Given the description of an element on the screen output the (x, y) to click on. 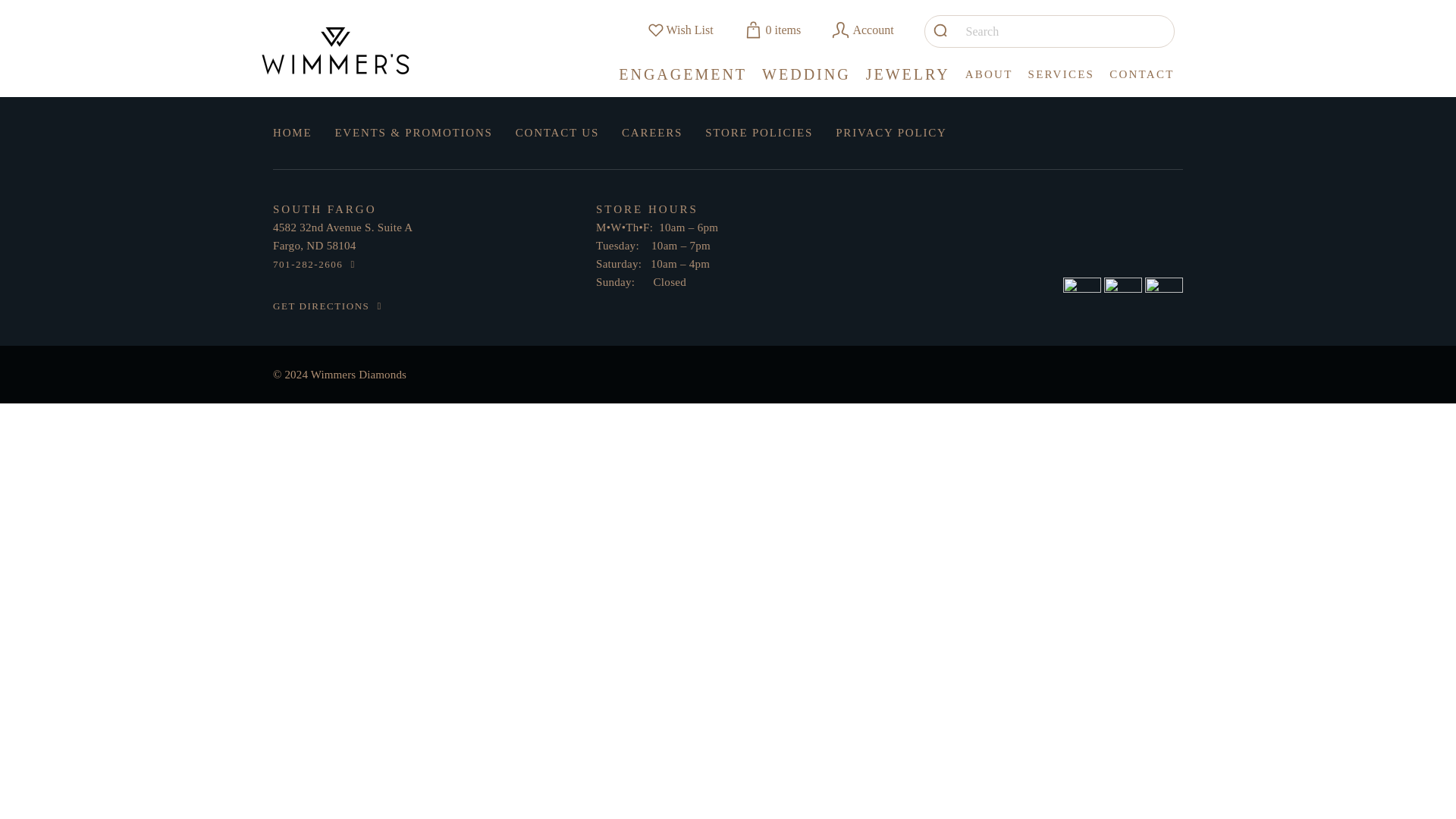
SERVICES (1060, 79)
Wish List (680, 29)
WEDDING (805, 80)
0 items (773, 29)
Account (862, 29)
CONTACT US (556, 132)
JEWELRY (908, 80)
CONTACT (1141, 79)
ABOUT (989, 79)
HOME (292, 132)
STORE POLICIES (758, 132)
ENGAGEMENT (682, 80)
CAREERS (651, 132)
